Given the description of an element on the screen output the (x, y) to click on. 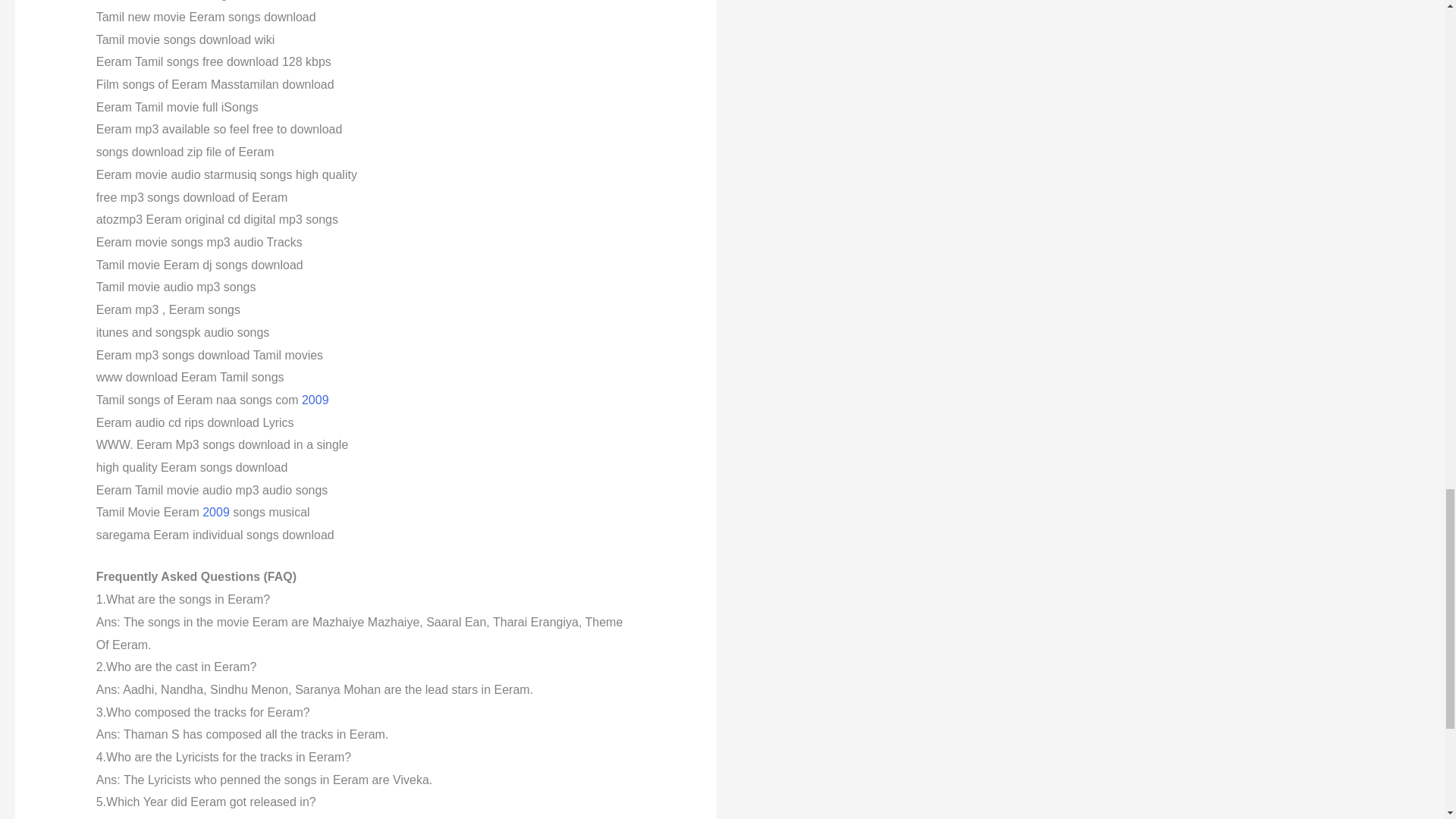
2009 (315, 399)
2009 (216, 512)
